Given the description of an element on the screen output the (x, y) to click on. 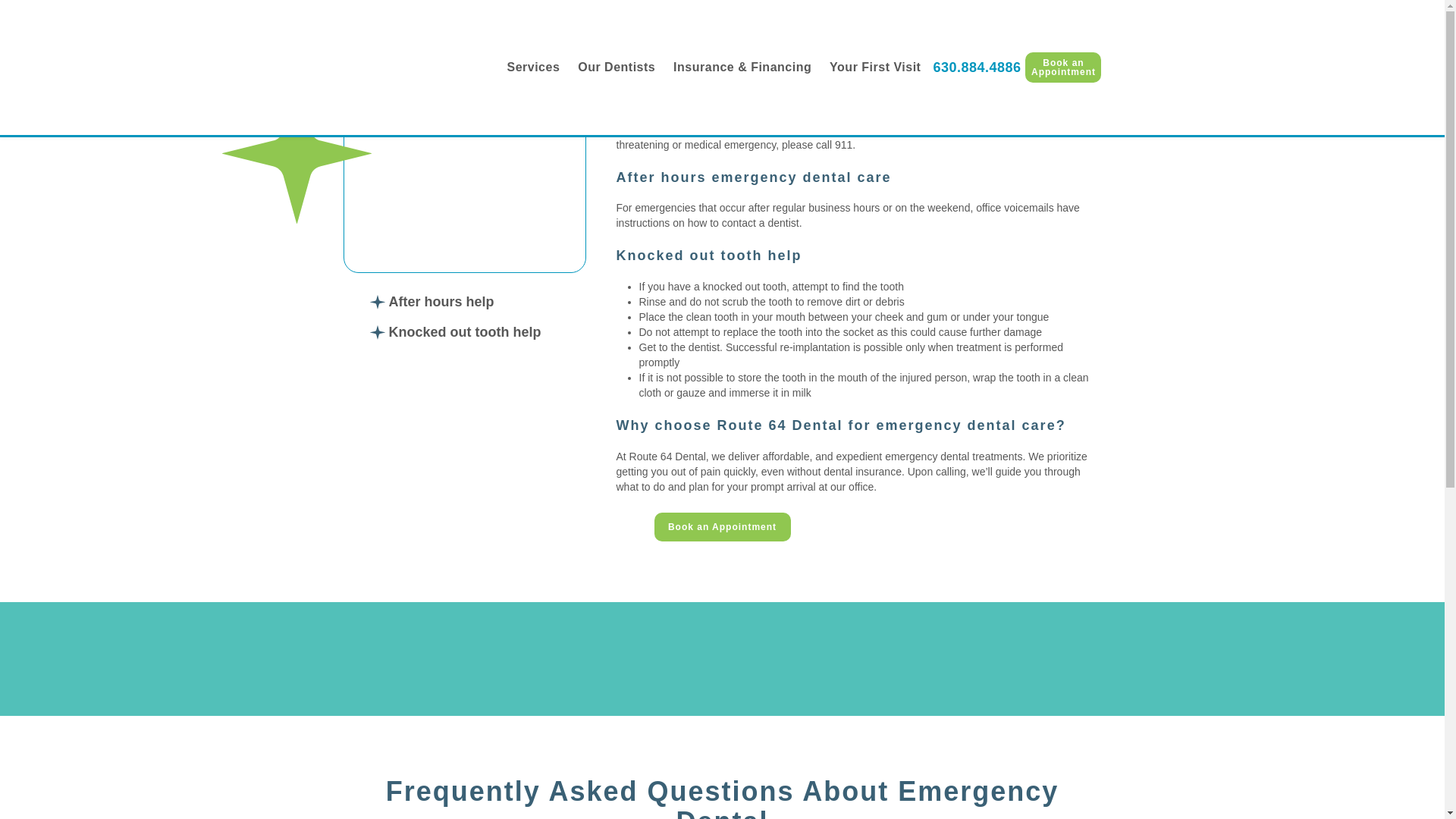
Book an Appointment (1062, 67)
Our Dentists (616, 66)
Your First Visit (874, 66)
Services (532, 66)
630.884.4886 (976, 67)
